Given the description of an element on the screen output the (x, y) to click on. 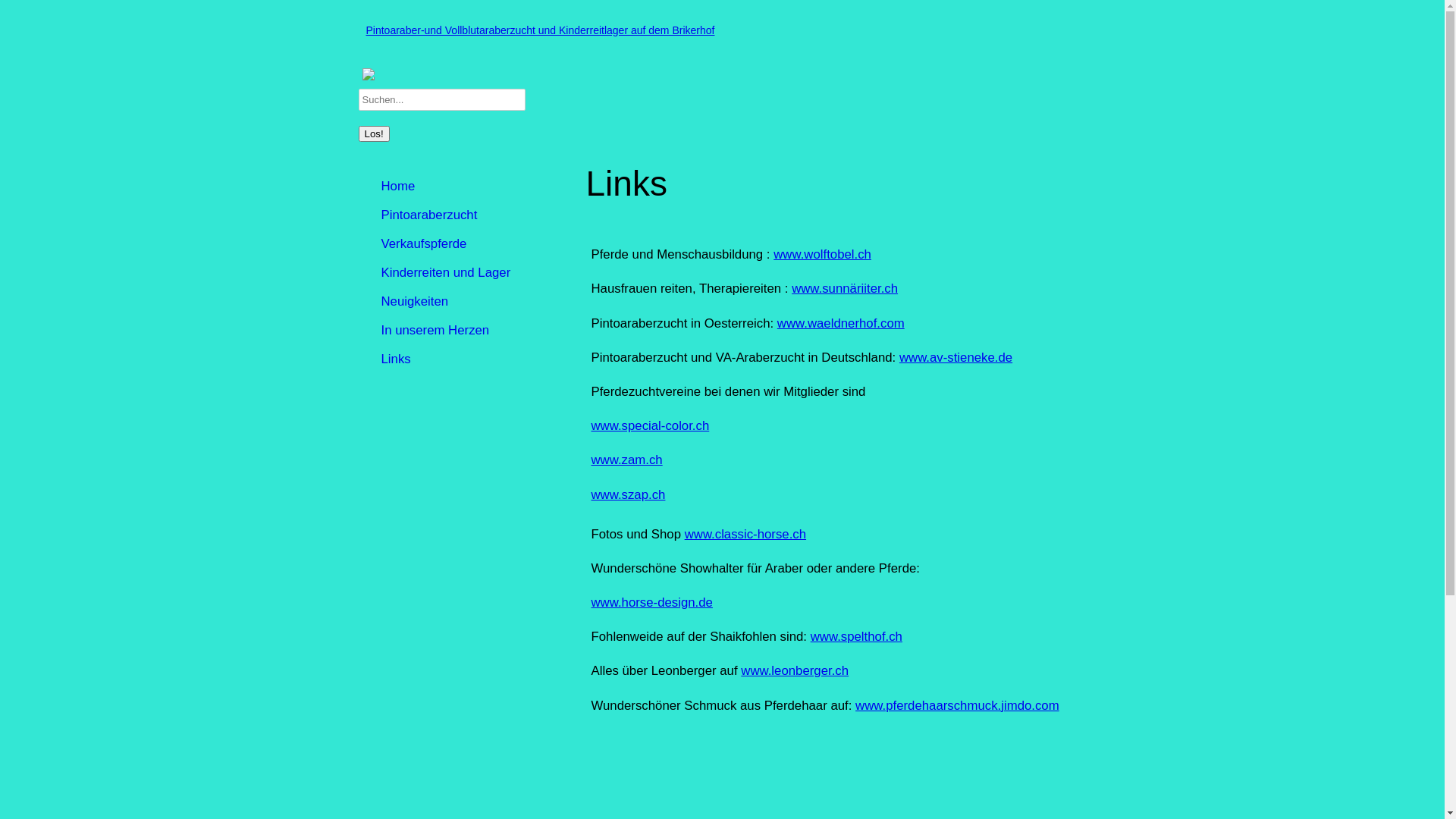
www.classic-horse.ch Element type: text (745, 534)
In unserem Herzen Element type: text (471, 330)
Neuigkeiten Element type: text (471, 301)
Kinderreiten und Lager Element type: text (471, 272)
Links Element type: text (471, 359)
www.leonberger.ch Element type: text (794, 670)
Verkaufspferde Element type: text (471, 244)
www.spelthof.ch Element type: text (856, 636)
www.szap.ch Element type: text (628, 493)
www.waeldnerhof.com Element type: text (840, 323)
Los! Element type: text (373, 133)
Pintoaraberzucht Element type: text (471, 215)
www.zam.ch Element type: text (626, 459)
www.pferdehaarschmuck.jimdo.com Element type: text (957, 705)
Home Element type: text (471, 186)
www.av-stieneke.de Element type: text (955, 357)
www.wolftobel.ch Element type: text (822, 254)
www.special-color.ch Element type: text (650, 425)
www.horse-design.de Element type: text (651, 602)
